Given the description of an element on the screen output the (x, y) to click on. 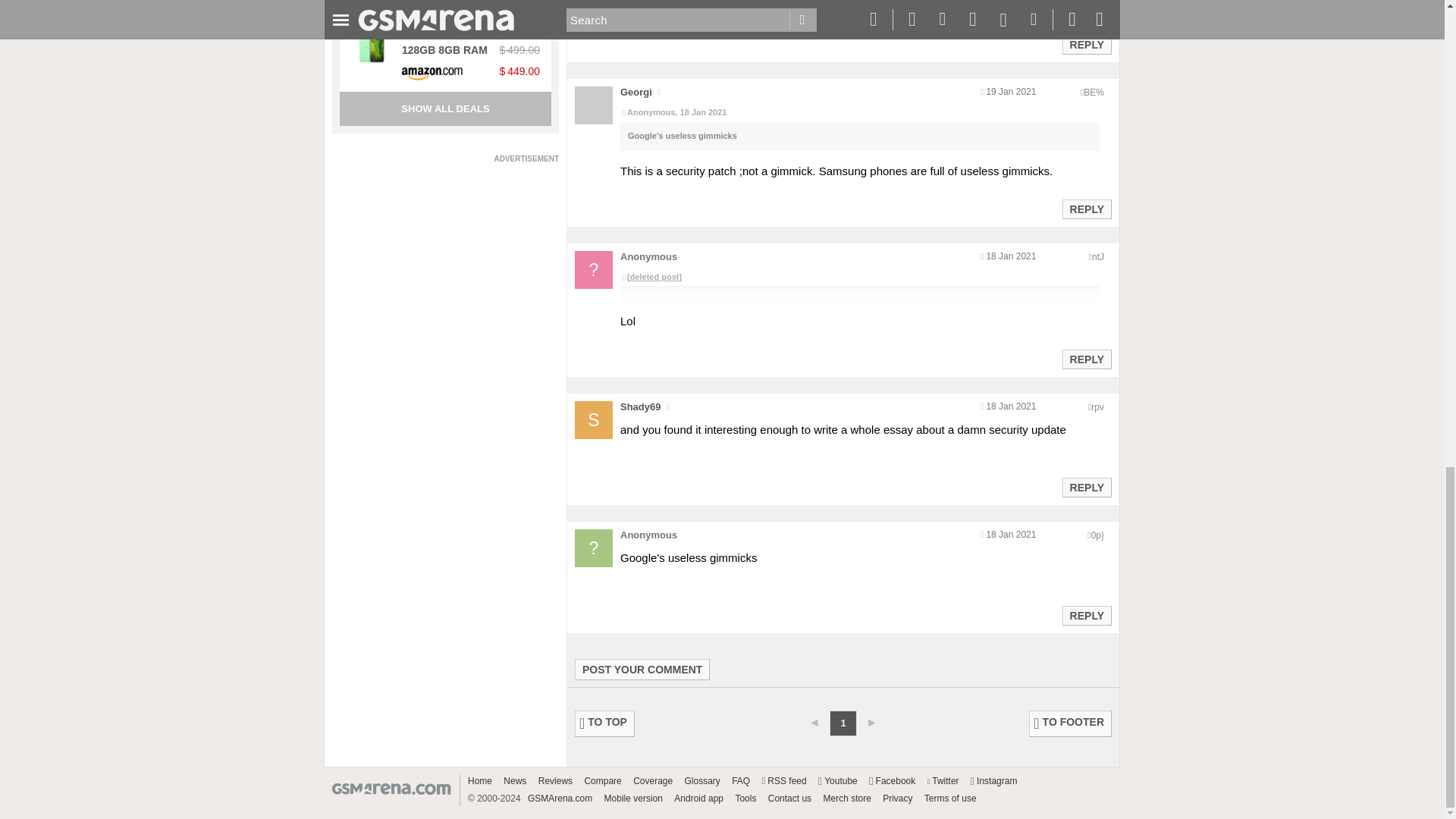
Encoded anonymized location (1093, 91)
Reply to this post (1086, 44)
Encoded anonymized location (1096, 407)
Reply to this post (1086, 209)
Reply to this post (1086, 358)
TO TOP (604, 723)
Reply to this post (1086, 487)
Encoded anonymized location (1097, 256)
